Given the description of an element on the screen output the (x, y) to click on. 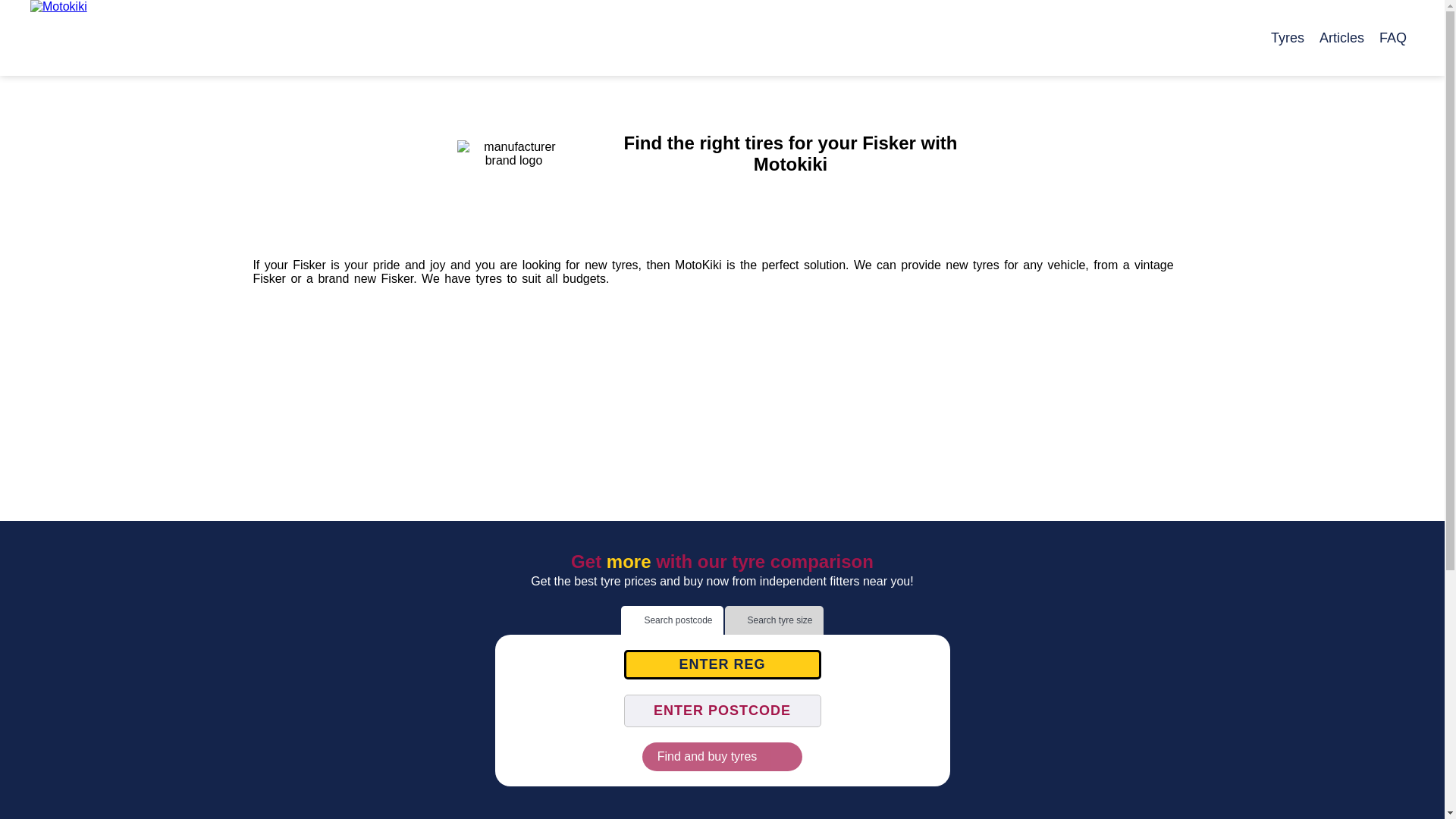
Find and buy tyres (722, 756)
Tyres (1287, 37)
Articles (1341, 37)
FAQ (1392, 37)
